Given the description of an element on the screen output the (x, y) to click on. 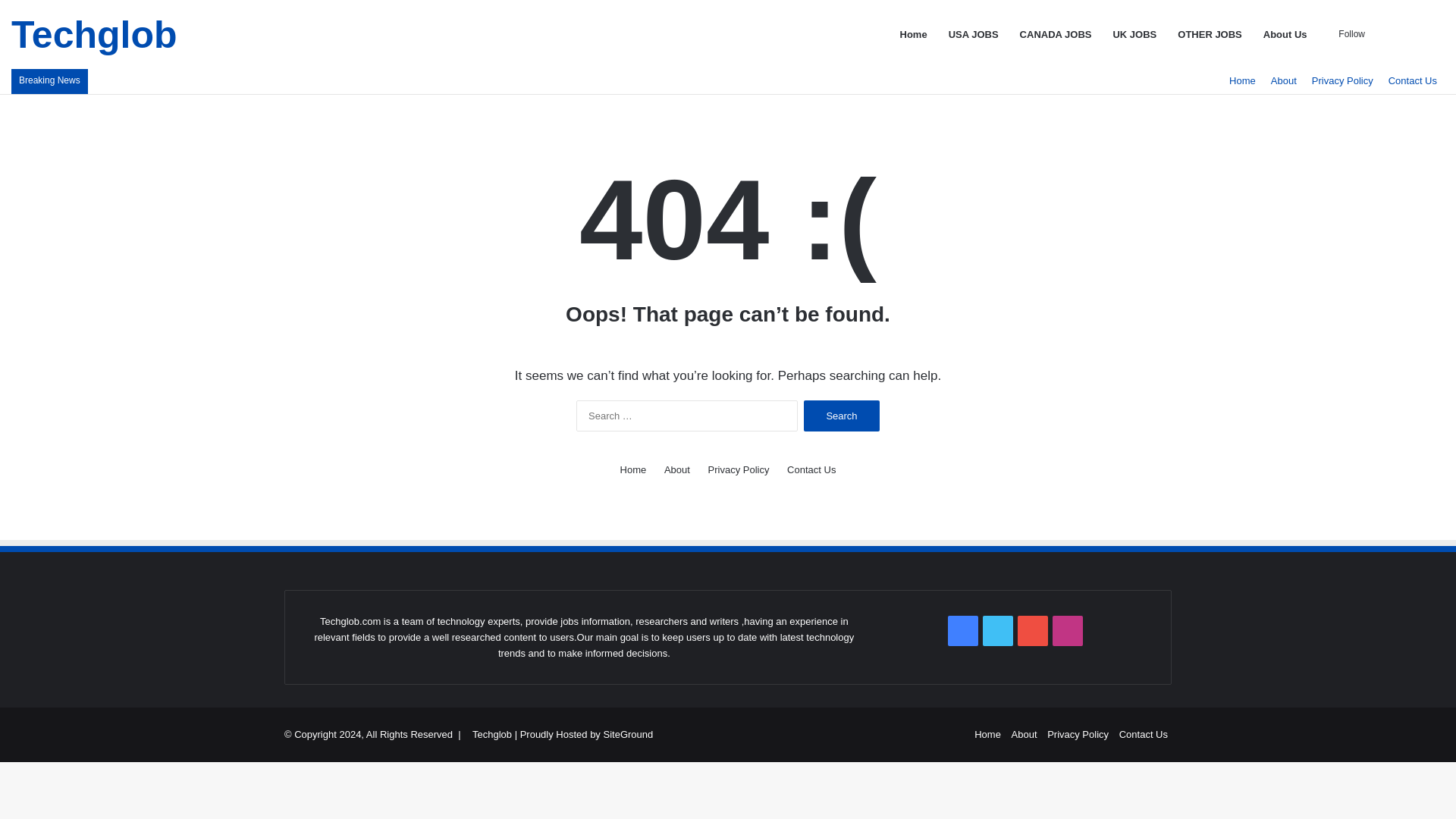
Privacy Policy (1342, 80)
Home (633, 469)
About (676, 469)
Contact Us (1412, 80)
YouTube (1032, 630)
Instagram (1067, 630)
About Us (1284, 33)
Privacy Policy (738, 469)
USA JOBS (973, 33)
Search (841, 415)
